Given the description of an element on the screen output the (x, y) to click on. 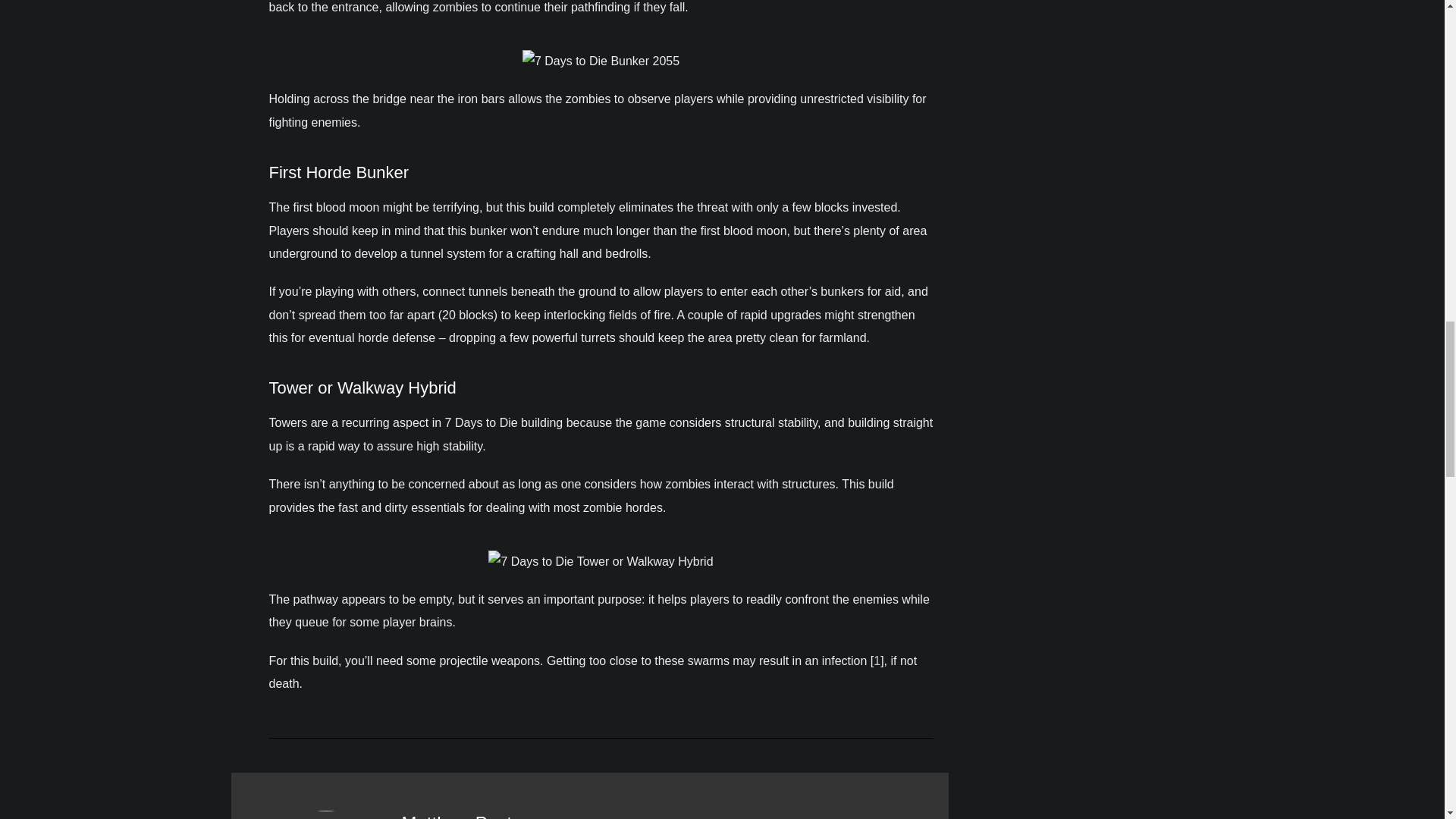
Posts by Matthew Paxton (466, 816)
7 Days to Die Bunker 2055 (600, 60)
7 Days to Die Tower or Walkway Hybrid (600, 561)
